Given the description of an element on the screen output the (x, y) to click on. 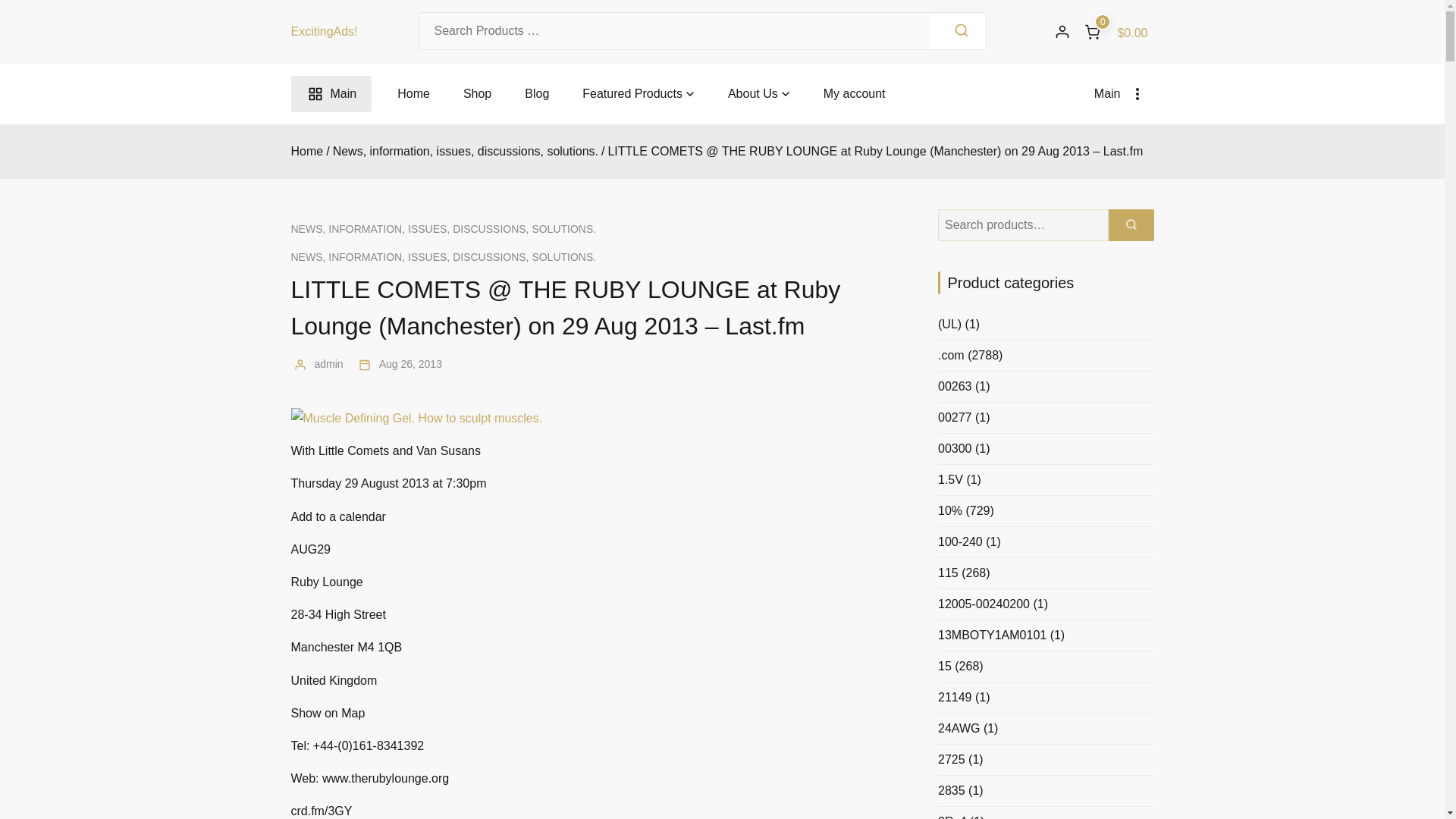
About Us (752, 94)
NEWS, INFORMATION, ISSUES, DISCUSSIONS, SOLUTIONS. (443, 257)
Home (413, 94)
ExcitingAds! (324, 31)
Main (331, 94)
Search (961, 31)
admin (328, 363)
Main (1124, 94)
Home (307, 151)
View your shopping cart (1115, 31)
Featured Products (632, 94)
NEWS, INFORMATION, ISSUES, DISCUSSIONS, SOLUTIONS. (443, 229)
Browse products (632, 94)
News, information, issues, discussions, solutions. (465, 151)
My account (854, 94)
